Given the description of an element on the screen output the (x, y) to click on. 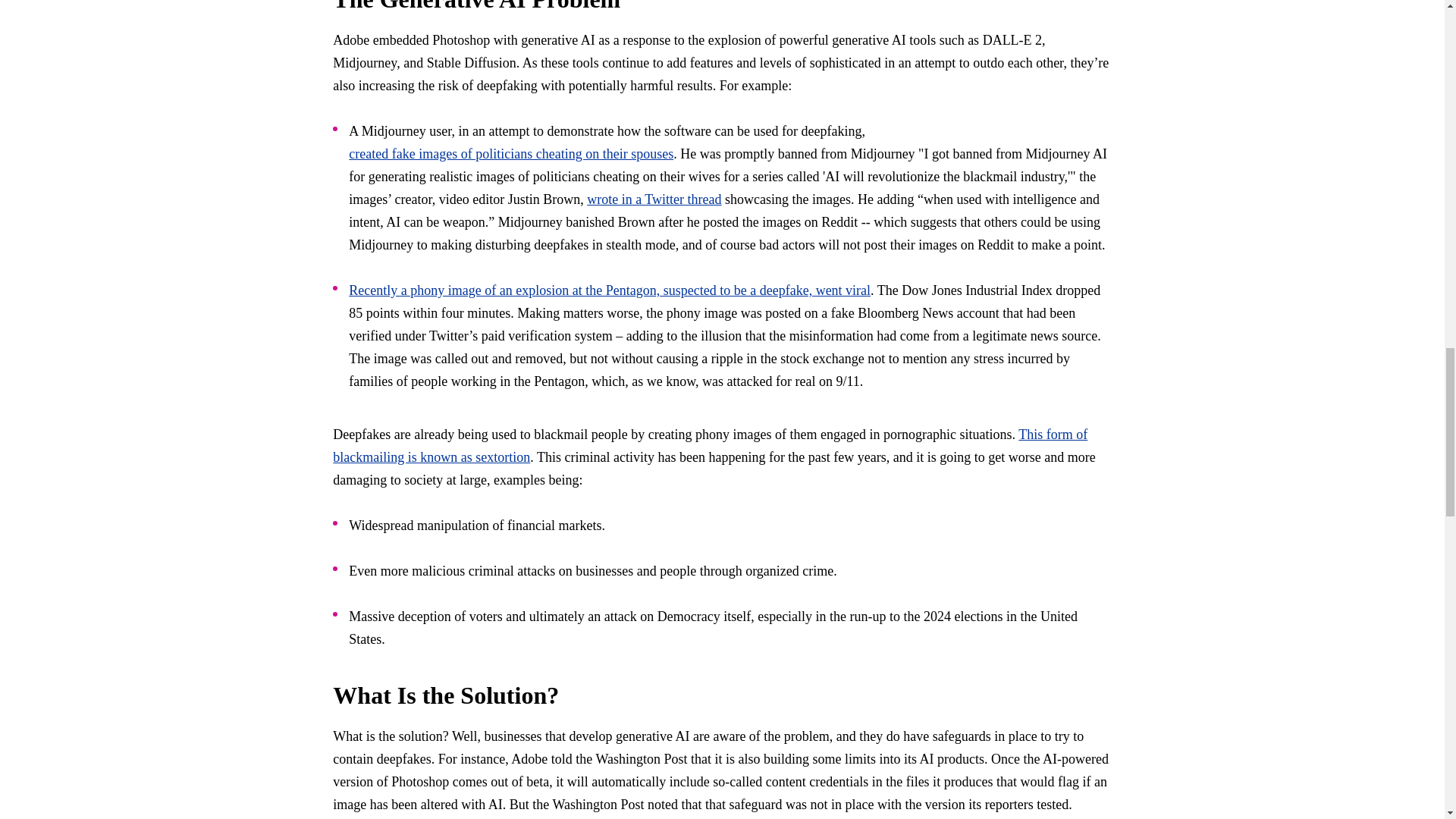
This form of blackmailing is known as sextortion (710, 445)
created fake images of politicians cheating on their spouses (510, 153)
wrote in a Twitter thread (653, 199)
